Given the description of an element on the screen output the (x, y) to click on. 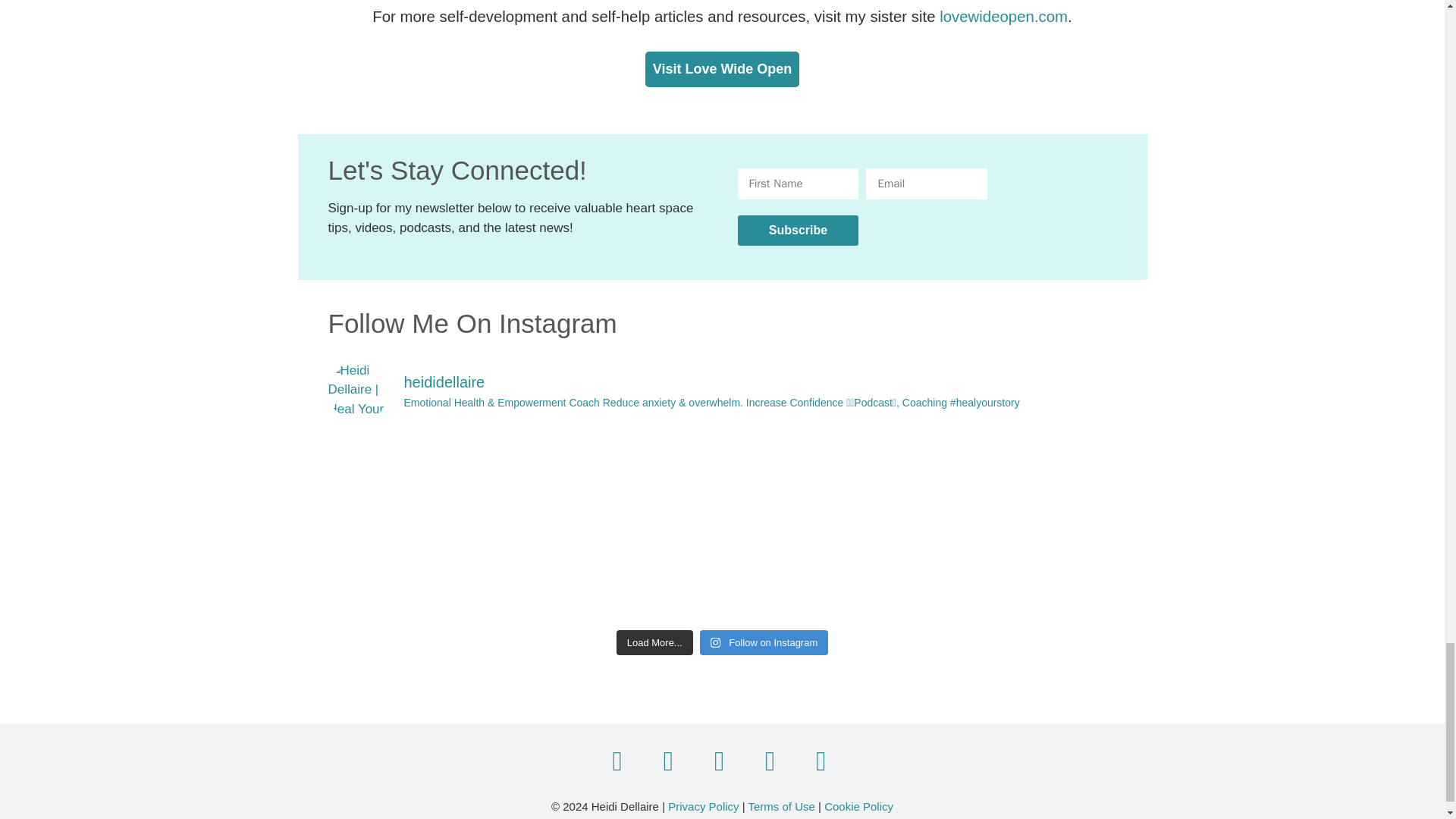
Twitter (668, 760)
Facebook (617, 760)
Follow on Instagram (764, 642)
Subscribe (797, 230)
Instagram (719, 760)
lovewideopen.com (1003, 16)
YouTube (820, 760)
Load More... (654, 642)
Pinterest (770, 760)
Visit Love Wide Open (722, 68)
